Given the description of an element on the screen output the (x, y) to click on. 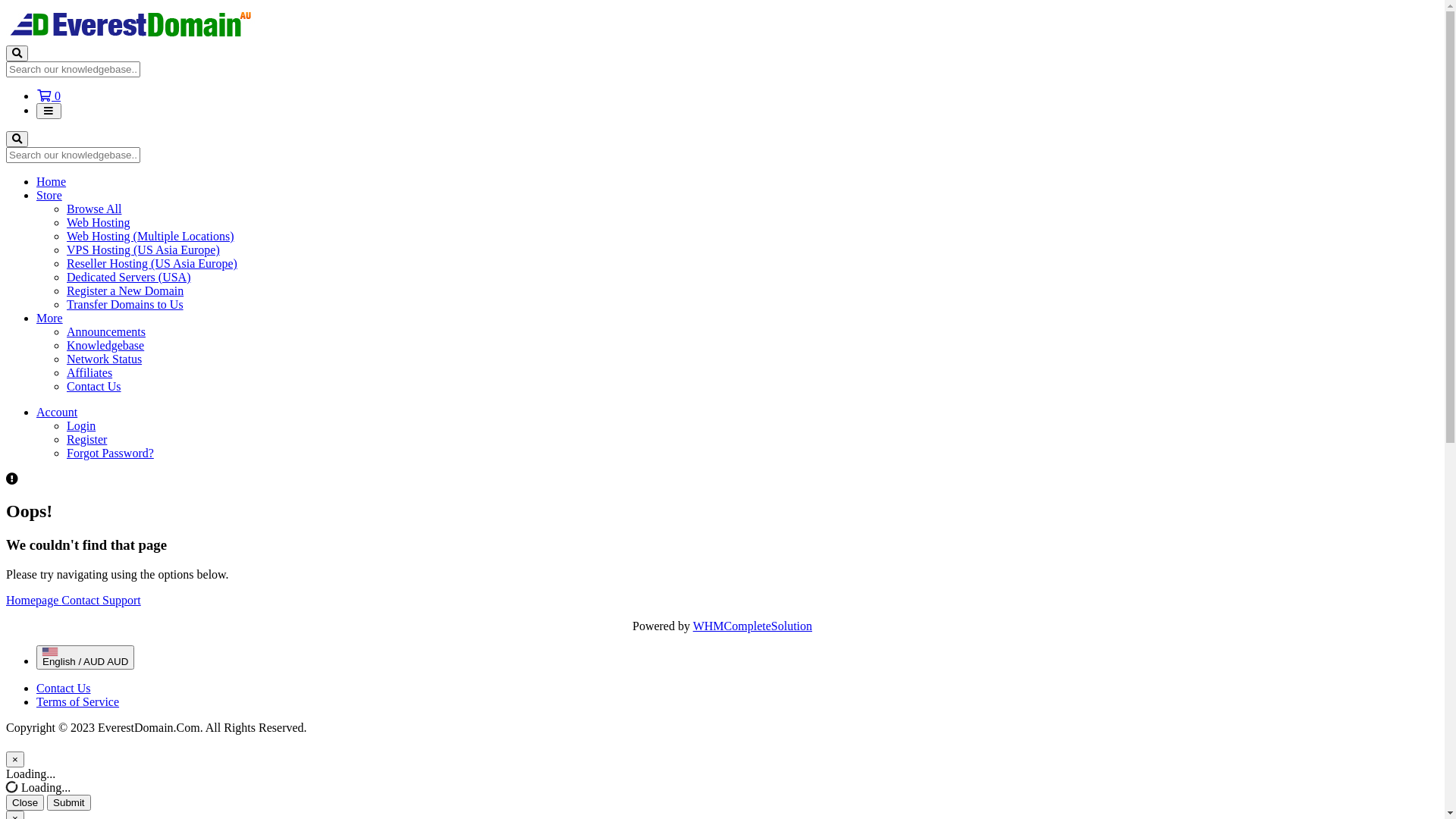
Browse All Element type: text (93, 208)
Announcements Element type: text (105, 331)
WHMCompleteSolution Element type: text (752, 625)
0
Shopping Cart Element type: text (48, 95)
Network Status Element type: text (103, 358)
Home Element type: text (50, 181)
Contact Us Element type: text (93, 385)
Forgot Password? Element type: text (109, 452)
English / AUD AUD Element type: text (85, 657)
Homepage Element type: text (33, 599)
Contact Support Element type: text (100, 599)
Web Hosting Element type: text (98, 222)
Contact Us Element type: text (63, 687)
Knowledgebase Element type: text (105, 344)
Register a New Domain Element type: text (124, 290)
Register Element type: text (86, 439)
Affiliates Element type: text (89, 372)
Terms of Service Element type: text (77, 701)
Submit Element type: text (68, 802)
VPS Hosting (US Asia Europe) Element type: text (142, 249)
More Element type: text (49, 317)
Web Hosting (Multiple Locations) Element type: text (149, 235)
Transfer Domains to Us Element type: text (124, 304)
Dedicated Servers (USA) Element type: text (128, 276)
Store Element type: text (49, 194)
Account Element type: text (56, 411)
Login Element type: text (80, 425)
Close Element type: text (24, 802)
Reseller Hosting (US Asia Europe) Element type: text (151, 263)
